Given the description of an element on the screen output the (x, y) to click on. 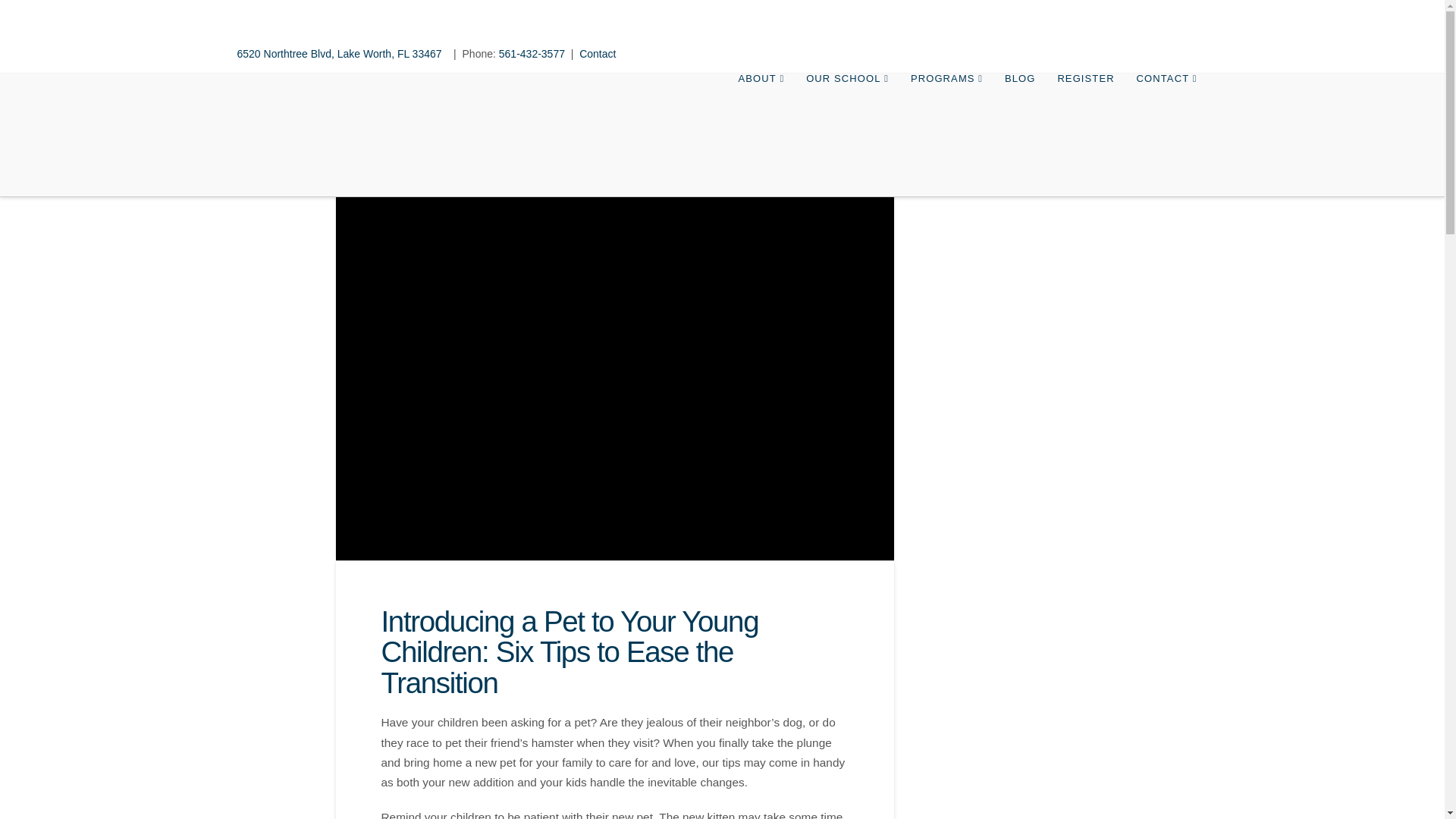
CONTACT (1166, 115)
561-432-3577 (531, 53)
6520 Northtree Blvd, Lake Worth, FL 33467 (339, 53)
REGISTER (1084, 115)
PROGRAMS (945, 115)
OUR SCHOOL (846, 115)
Contact (597, 53)
